Given the description of an element on the screen output the (x, y) to click on. 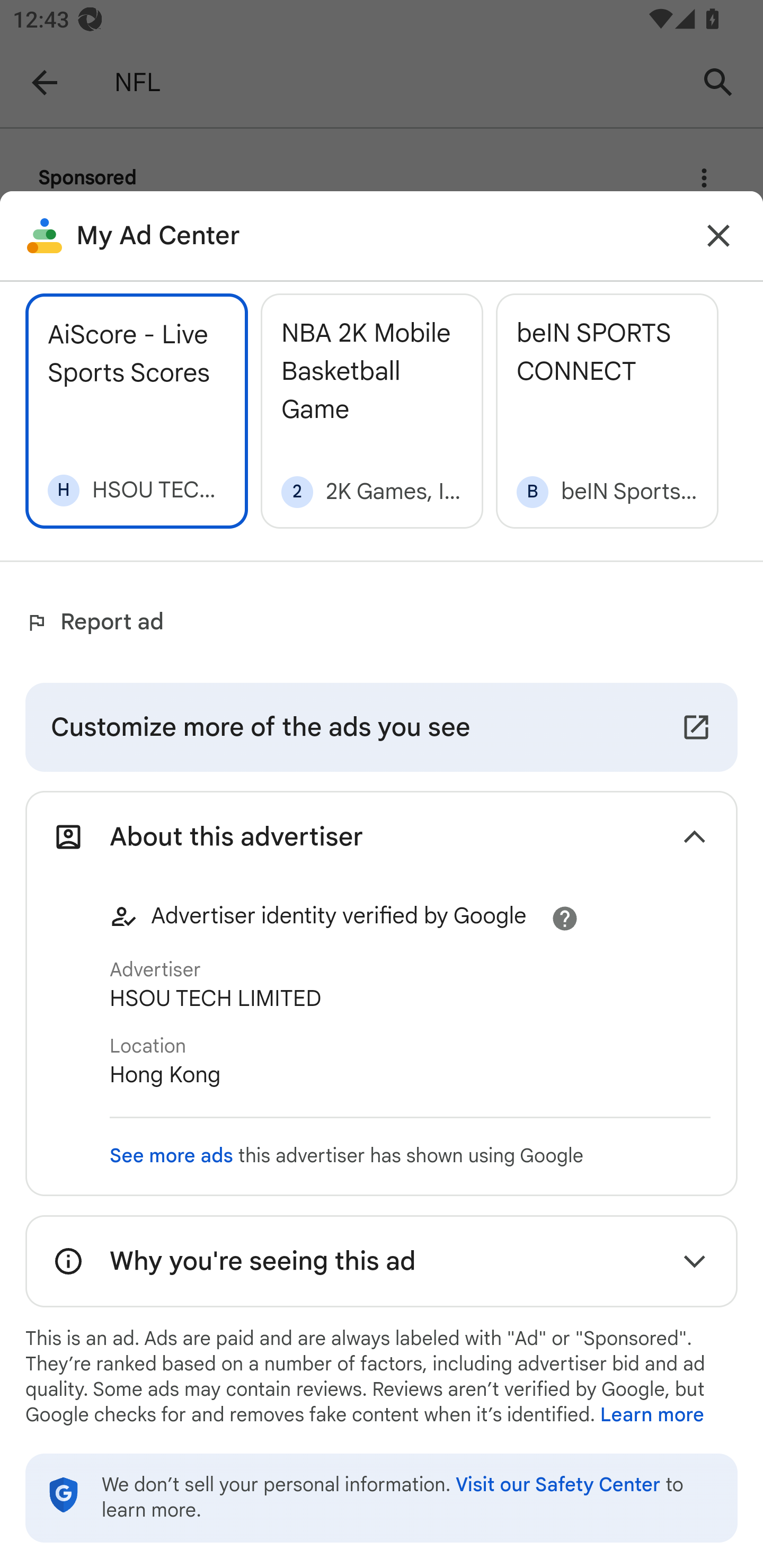
Close (718, 235)
Report ad (opens in new tab) Report ad (98, 622)
About this advertiser (381, 836)
See more ads (opens in new tab) See more ads (171, 1156)
Why you're seeing this ad (381, 1261)
Learn more (opens in new tab) Learn more (651, 1415)
